Given the description of an element on the screen output the (x, y) to click on. 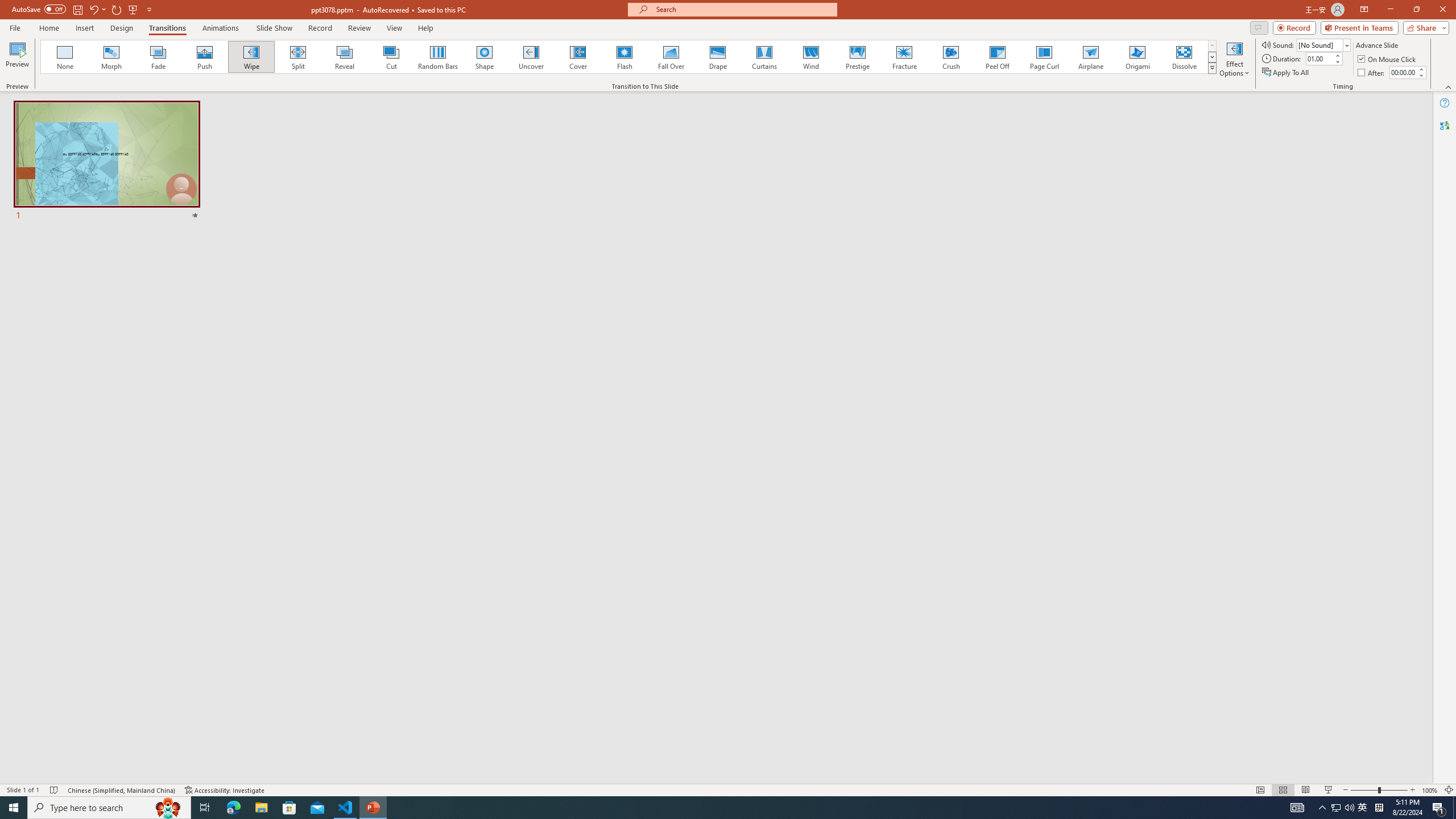
Fade (158, 56)
Push (205, 56)
Open (1345, 44)
After (1372, 72)
Microsoft search (742, 9)
Peel Off (997, 56)
Cover (577, 56)
Effect Options (1234, 58)
